Given the description of an element on the screen output the (x, y) to click on. 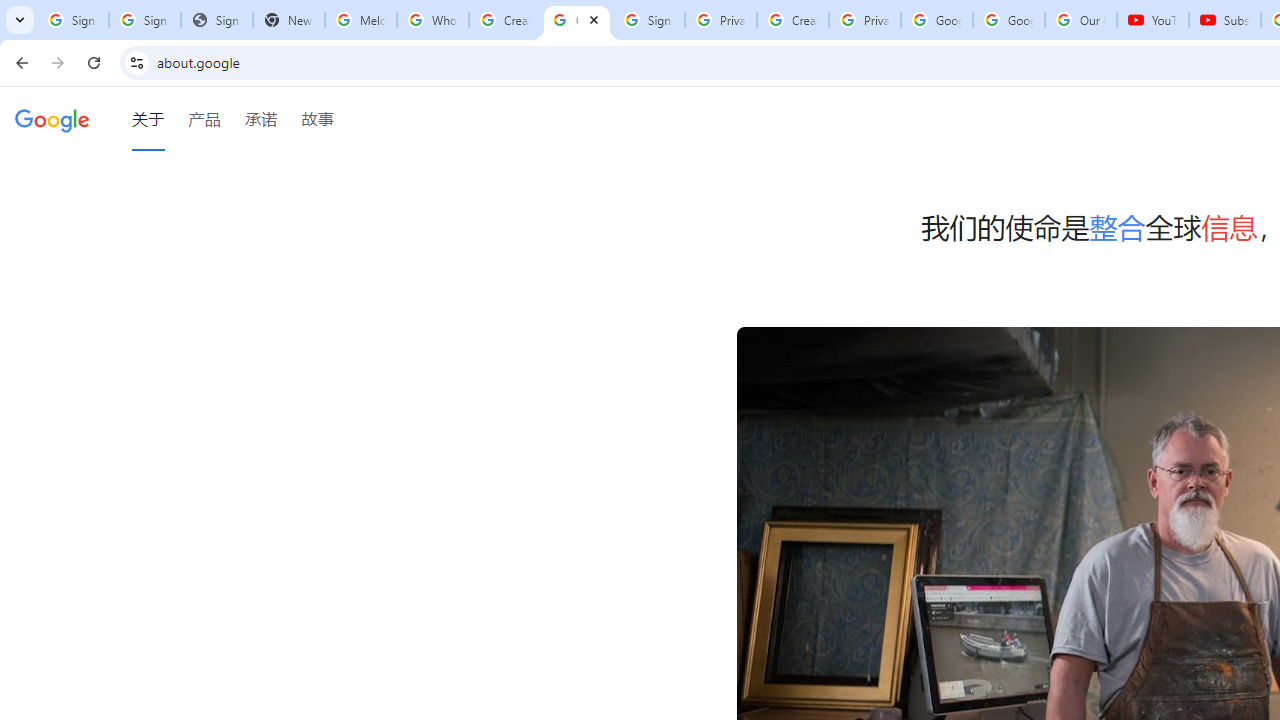
Who is my administrator? - Google Account Help (432, 20)
Sign In - USA TODAY (216, 20)
Subscriptions - YouTube (1224, 20)
Google Account (1008, 20)
Create your Google Account (504, 20)
System (10, 11)
Forward (57, 62)
Sign in - Google Accounts (72, 20)
Close (593, 19)
System (10, 11)
